Given the description of an element on the screen output the (x, y) to click on. 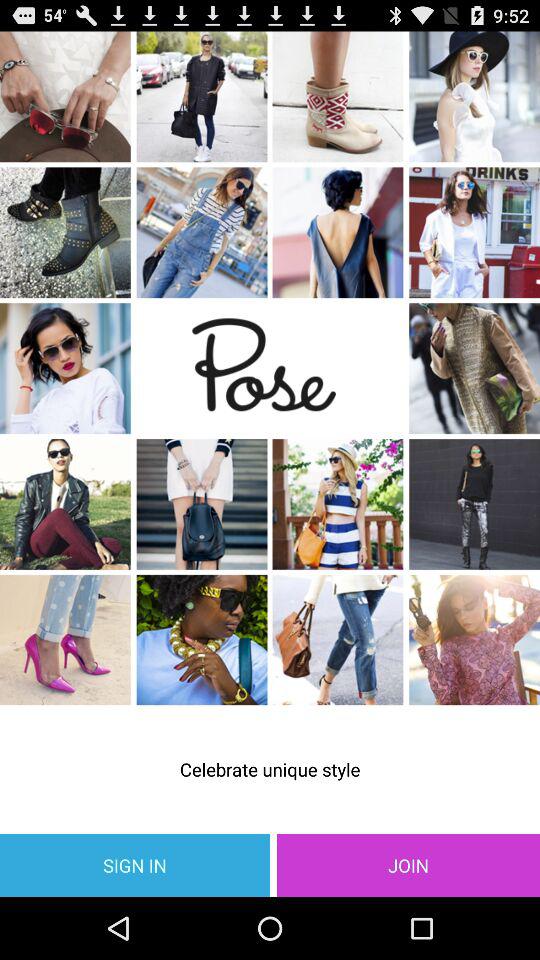
click item at the bottom left corner (135, 864)
